Given the description of an element on the screen output the (x, y) to click on. 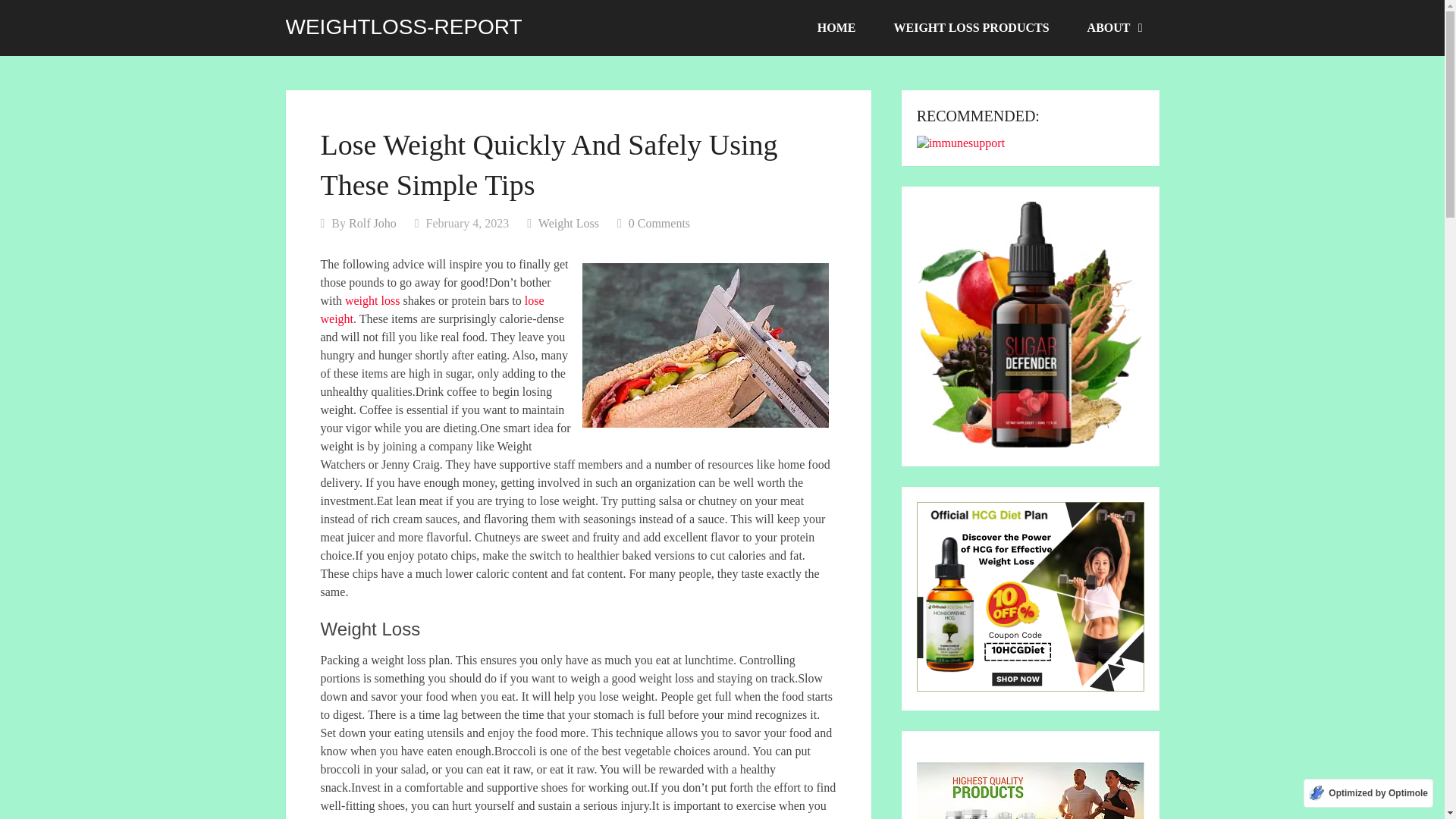
WEIGHT LOSS PRODUCTS (971, 28)
weight loss (371, 300)
Rolf Joho (372, 223)
Lose Weight Quickly And Safely Using These Simple Tips (705, 344)
ABOUT (1113, 28)
HOME (836, 28)
Weight Loss (568, 223)
0 Comments (659, 223)
Posts by Rolf Joho (372, 223)
lose weight (431, 309)
WEIGHTLOSS-REPORT (403, 26)
